Given the description of an element on the screen output the (x, y) to click on. 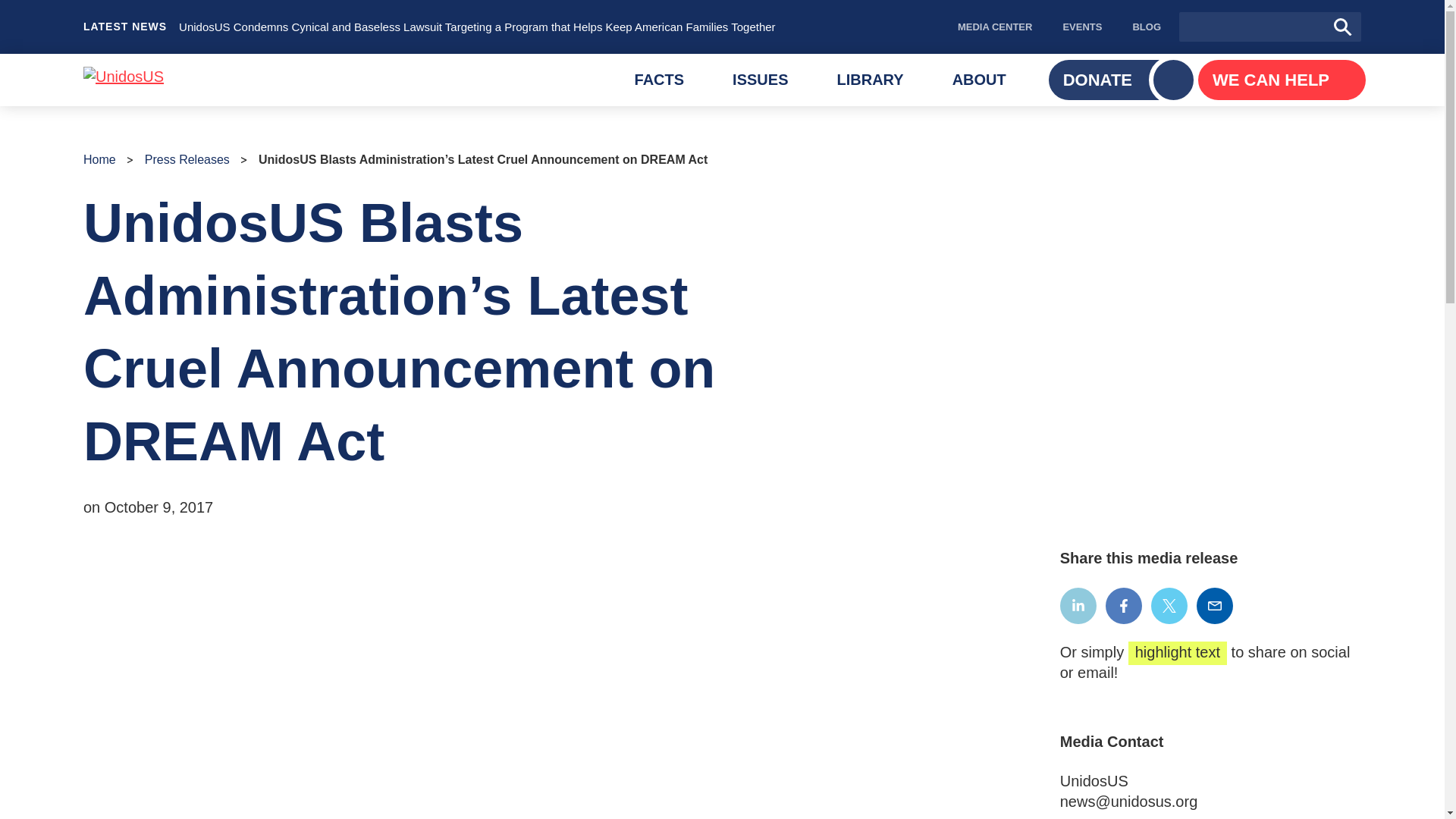
MEDIA CENTER (994, 26)
DACA Update: We Want a Clean DREAM Act (659, 80)
EVENTS (869, 80)
BLOG (759, 80)
